Given the description of an element on the screen output the (x, y) to click on. 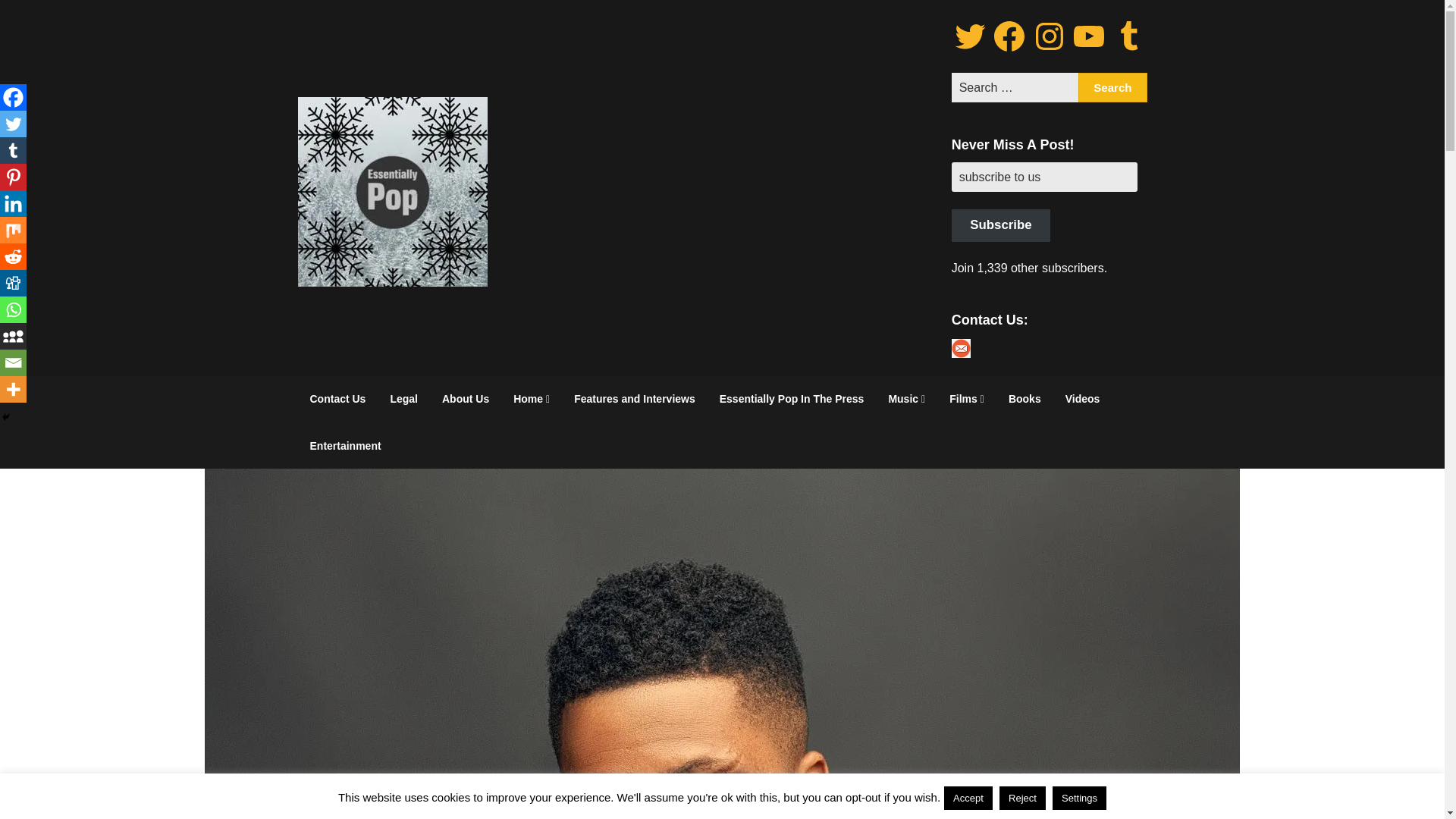
Search (1112, 87)
Essentially Pop In The Press (791, 398)
Tumblr (1128, 36)
About Us (464, 398)
Books (1023, 398)
Home (531, 398)
Videos (1082, 398)
Search (1112, 87)
Search (1112, 87)
Facebook (1009, 36)
Twitter (970, 36)
Instagram (1048, 36)
Entertainment (345, 445)
Legal (403, 398)
Films (966, 398)
